Given the description of an element on the screen output the (x, y) to click on. 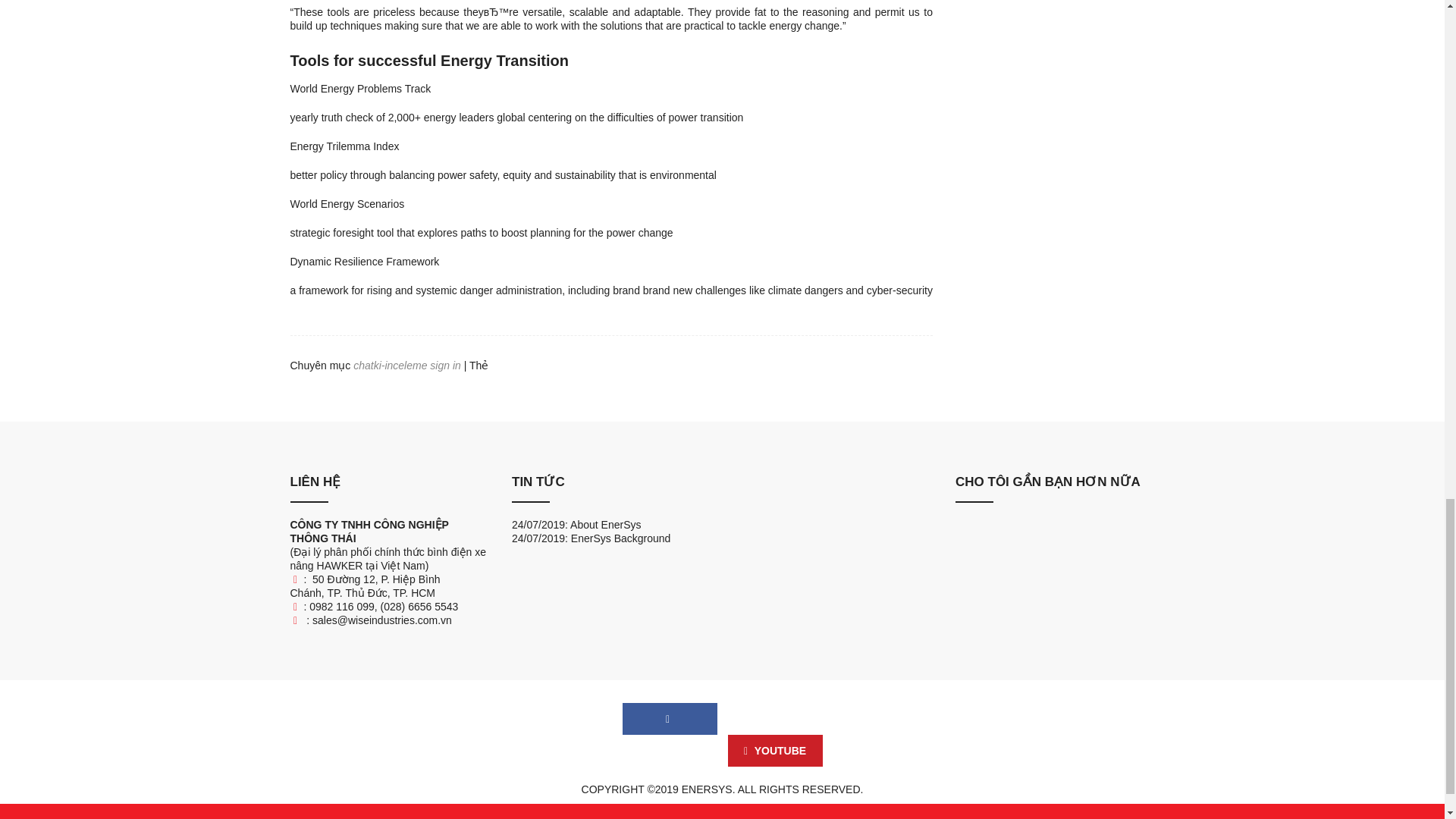
chatki-inceleme sign in (407, 365)
